Given the description of an element on the screen output the (x, y) to click on. 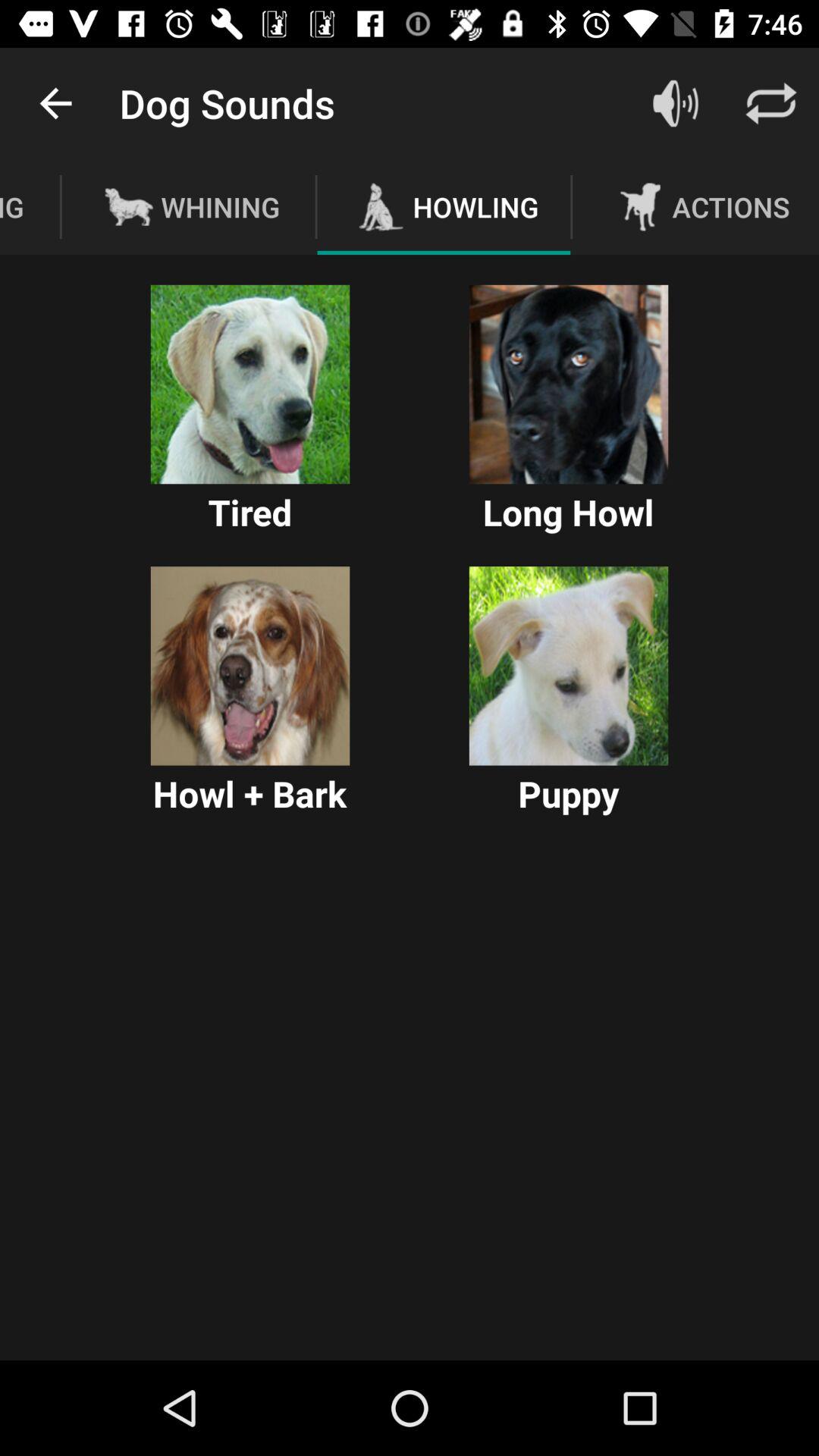
select tired (249, 384)
